Given the description of an element on the screen output the (x, y) to click on. 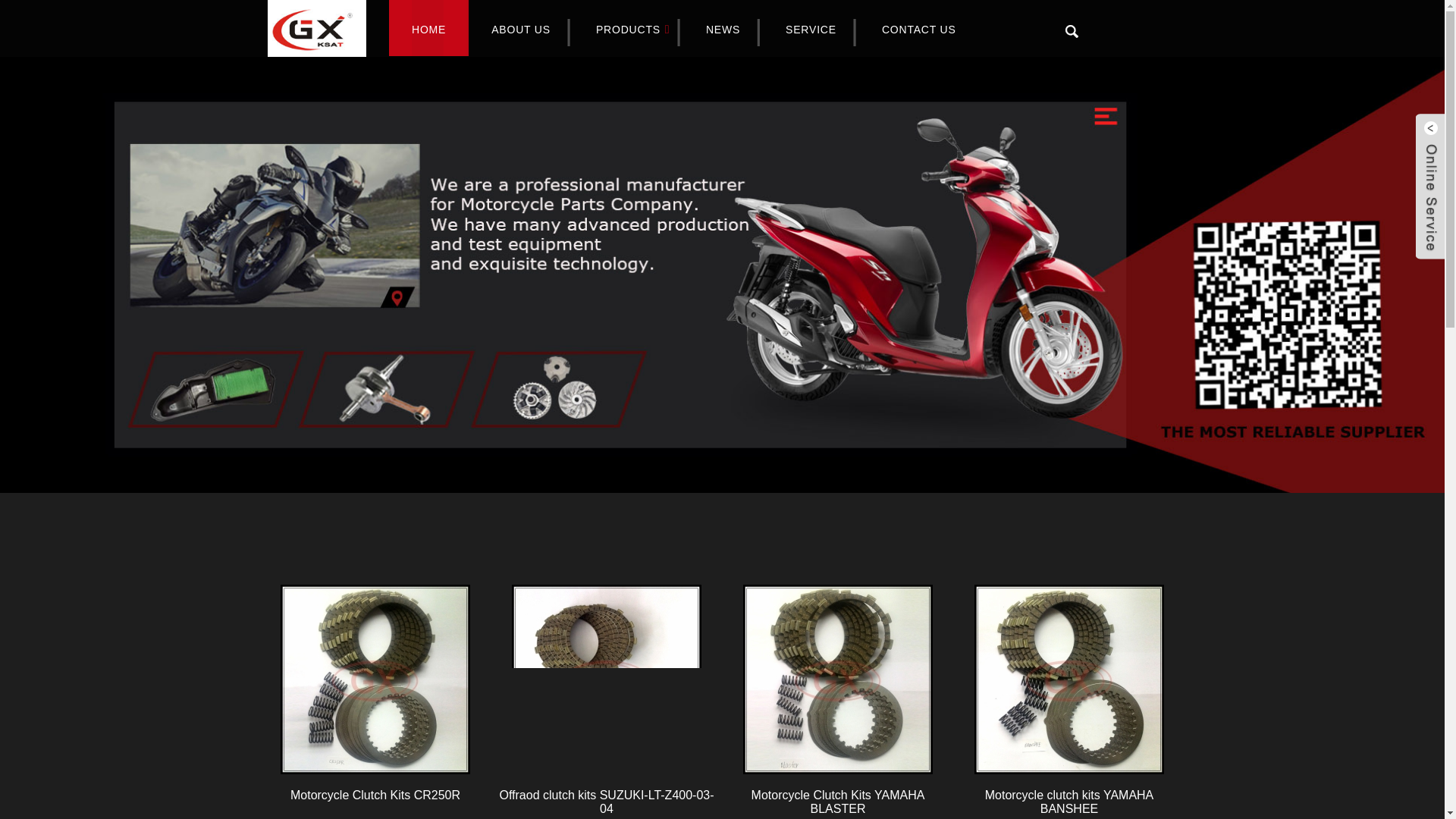
PRODUCTS (627, 30)
ABOUT US (520, 30)
About Us (520, 30)
Products (627, 30)
HOME (428, 30)
Home (428, 30)
